Given the description of an element on the screen output the (x, y) to click on. 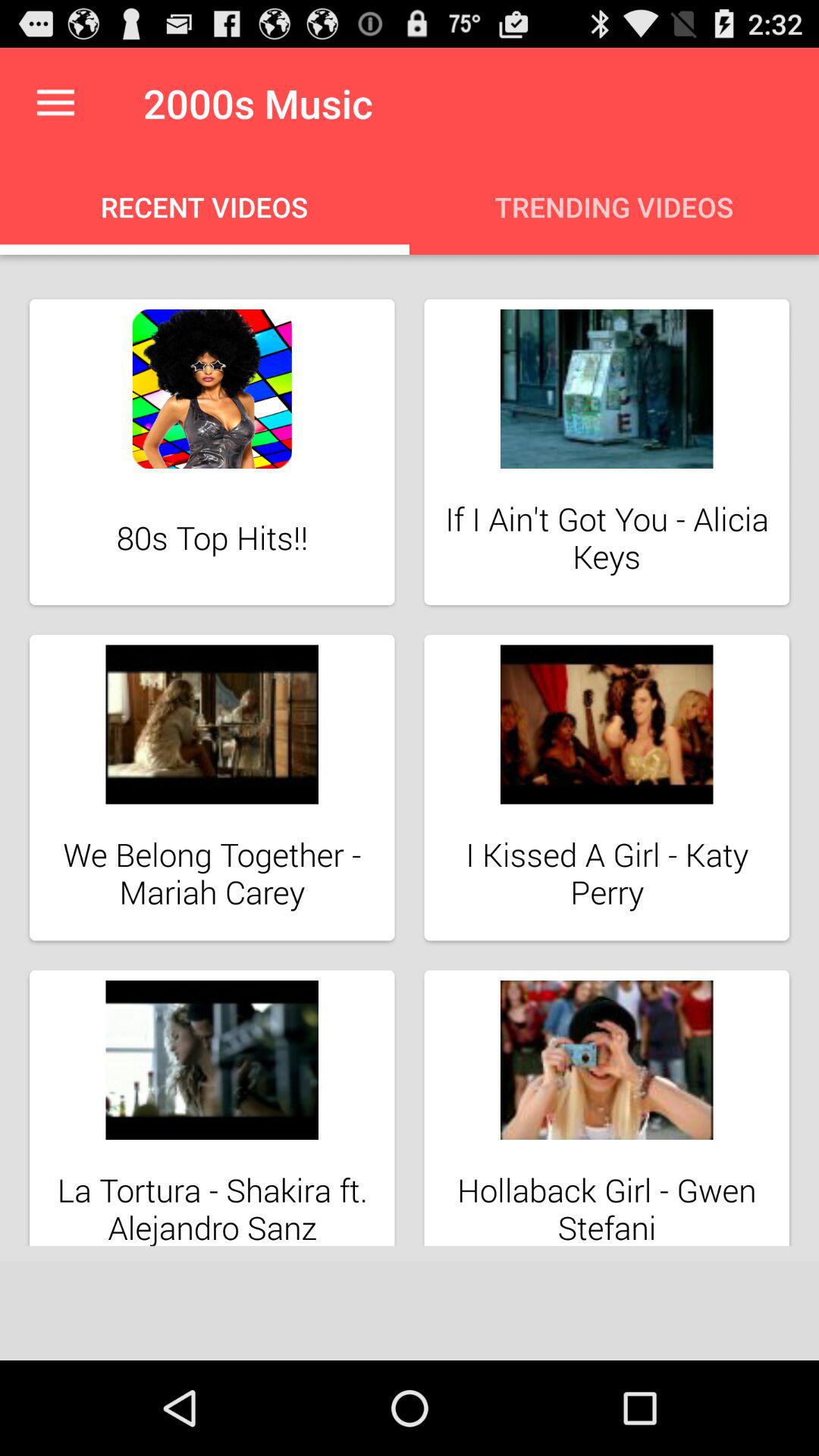
click on icon above i kissed a girl  katy perry (606, 725)
click on icon above if i aint got you  alicia keys (606, 389)
click on the second image on right (607, 787)
select the first option in recent videos (211, 452)
select the third video which on left side (211, 787)
